Given the description of an element on the screen output the (x, y) to click on. 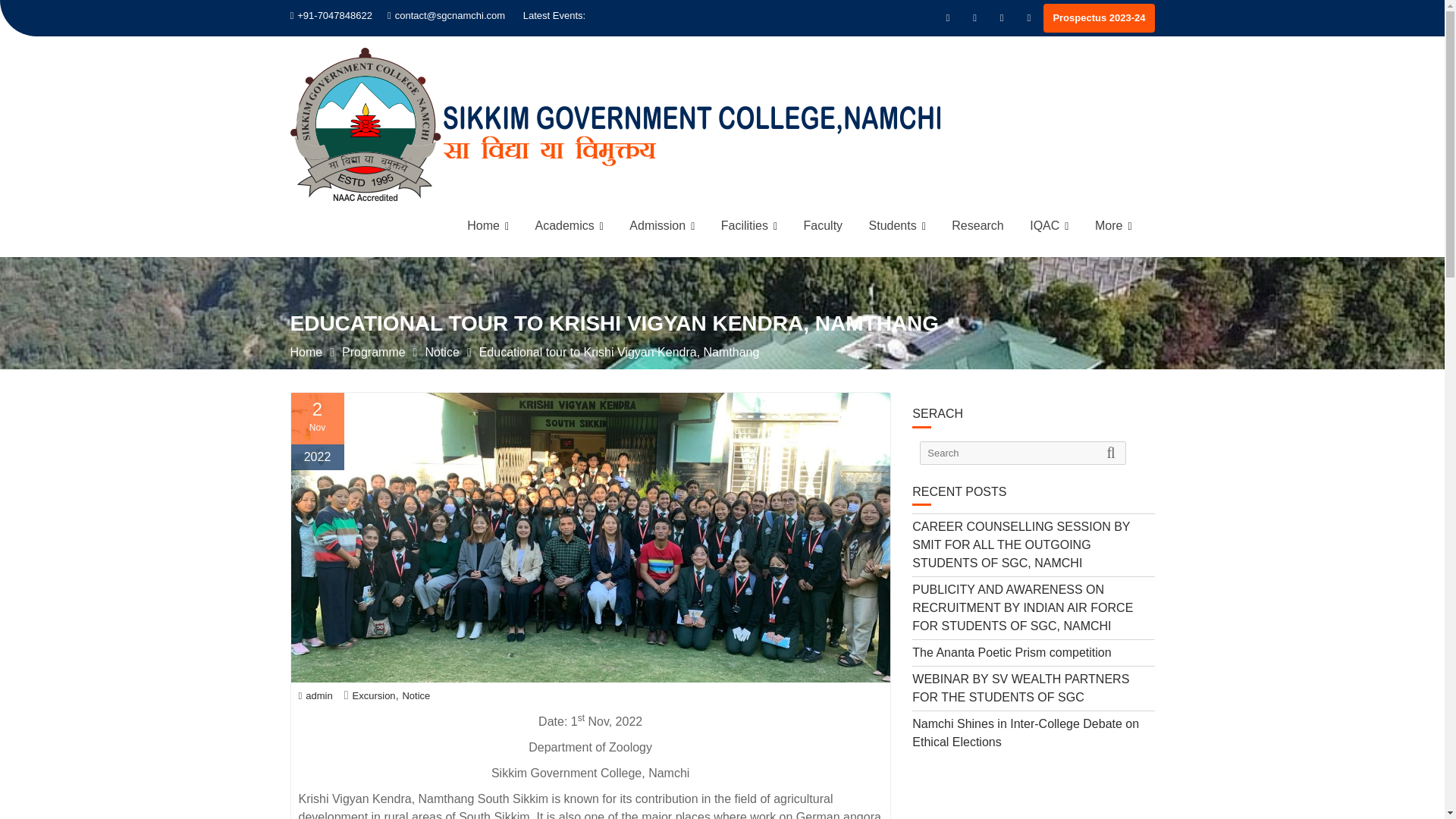
Academics (568, 226)
Google Plus (1028, 17)
Youtube (1001, 17)
Facebook (947, 17)
Home (487, 226)
Prospectus 2023-24 (1098, 18)
Twitter (974, 17)
